Given the description of an element on the screen output the (x, y) to click on. 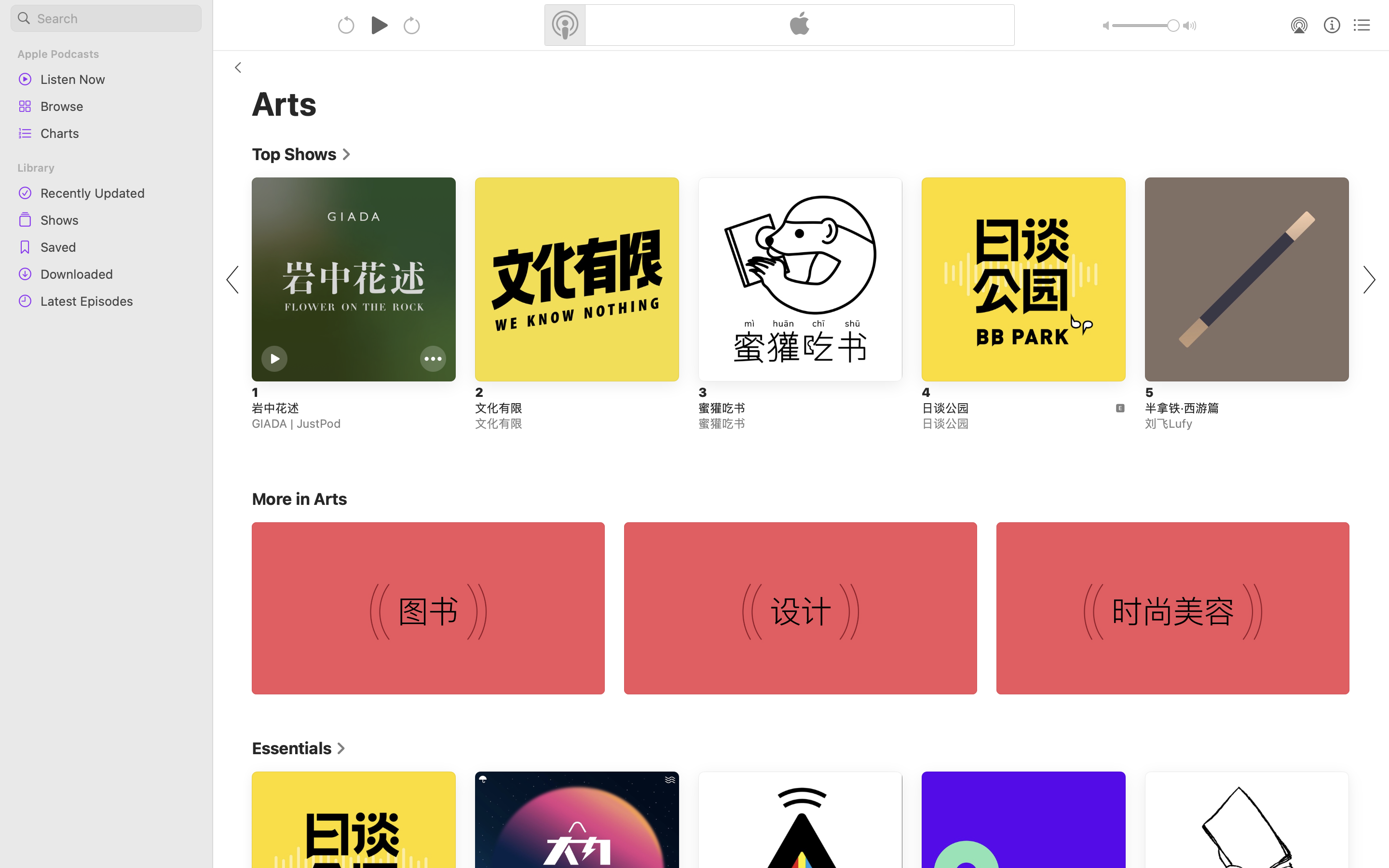
1.0 Element type: AXSlider (1145, 25)
